Given the description of an element on the screen output the (x, y) to click on. 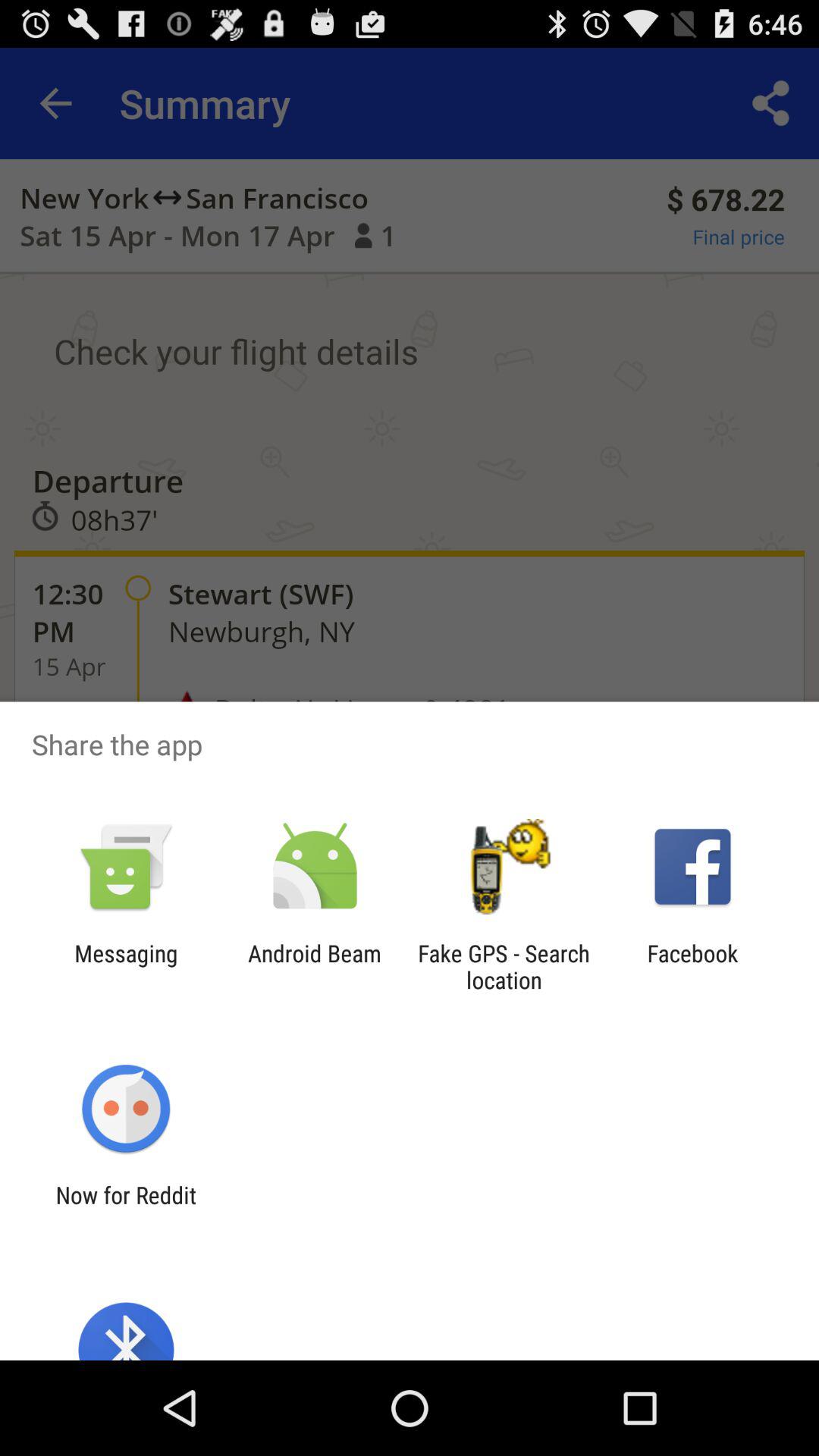
tap app to the left of android beam icon (126, 966)
